Given the description of an element on the screen output the (x, y) to click on. 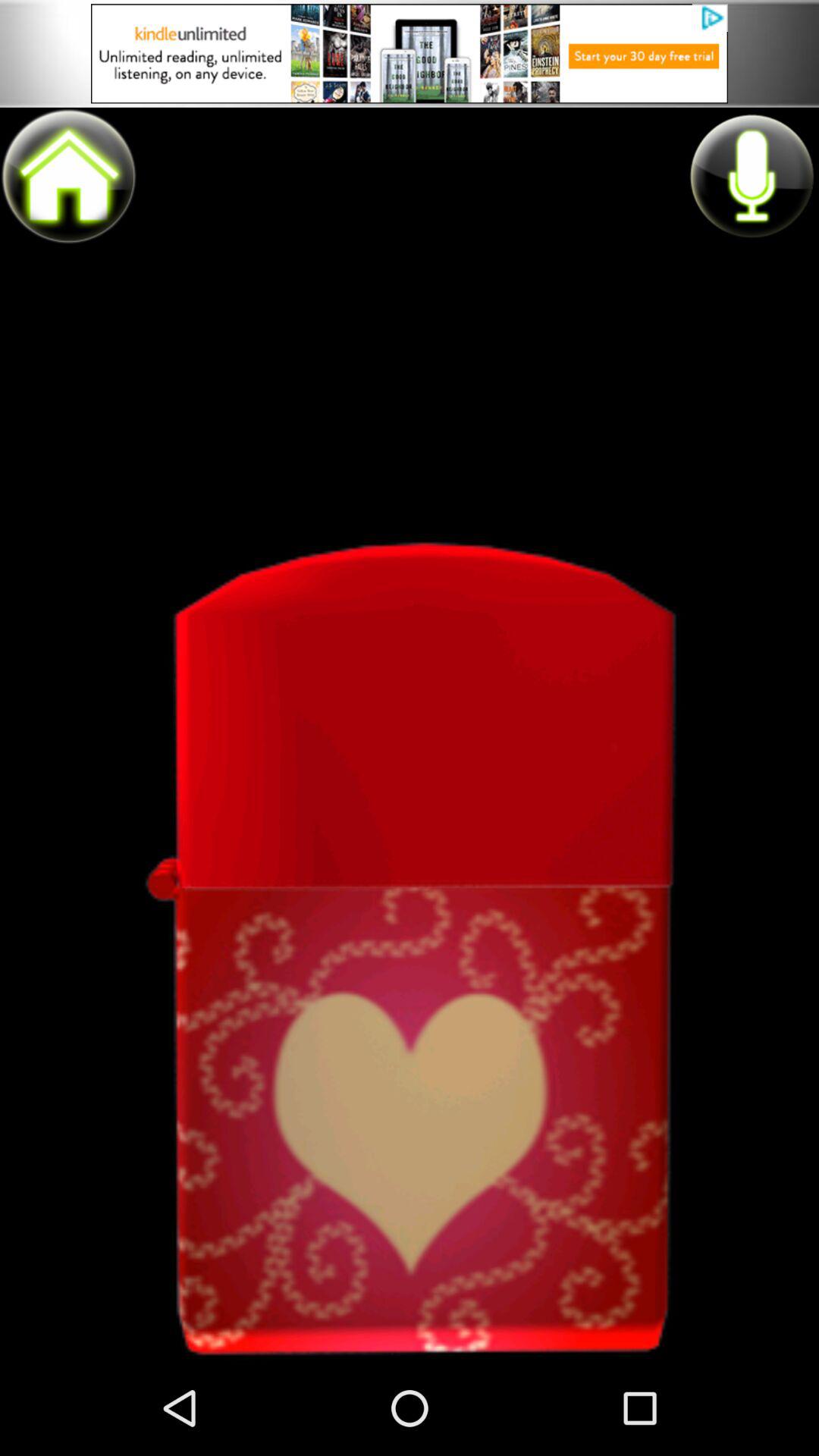
record (751, 175)
